Given the description of an element on the screen output the (x, y) to click on. 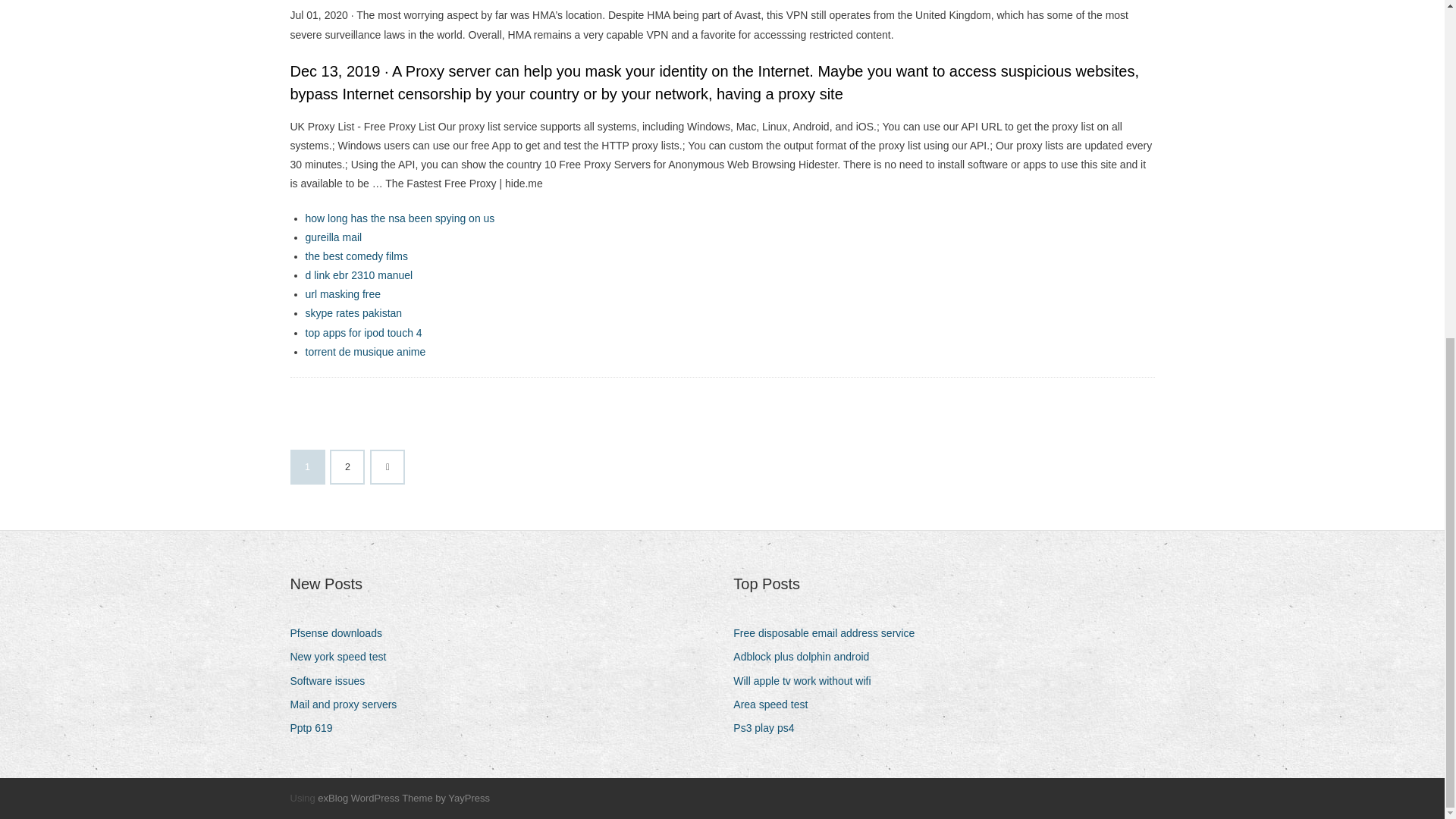
skype rates pakistan (352, 313)
2 (346, 467)
d link ebr 2310 manuel (358, 275)
Adblock plus dolphin android (806, 657)
url masking free (342, 294)
gureilla mail (332, 236)
Pptp 619 (316, 728)
Pfsense downloads (341, 633)
the best comedy films (355, 256)
Area speed test (775, 704)
